Given the description of an element on the screen output the (x, y) to click on. 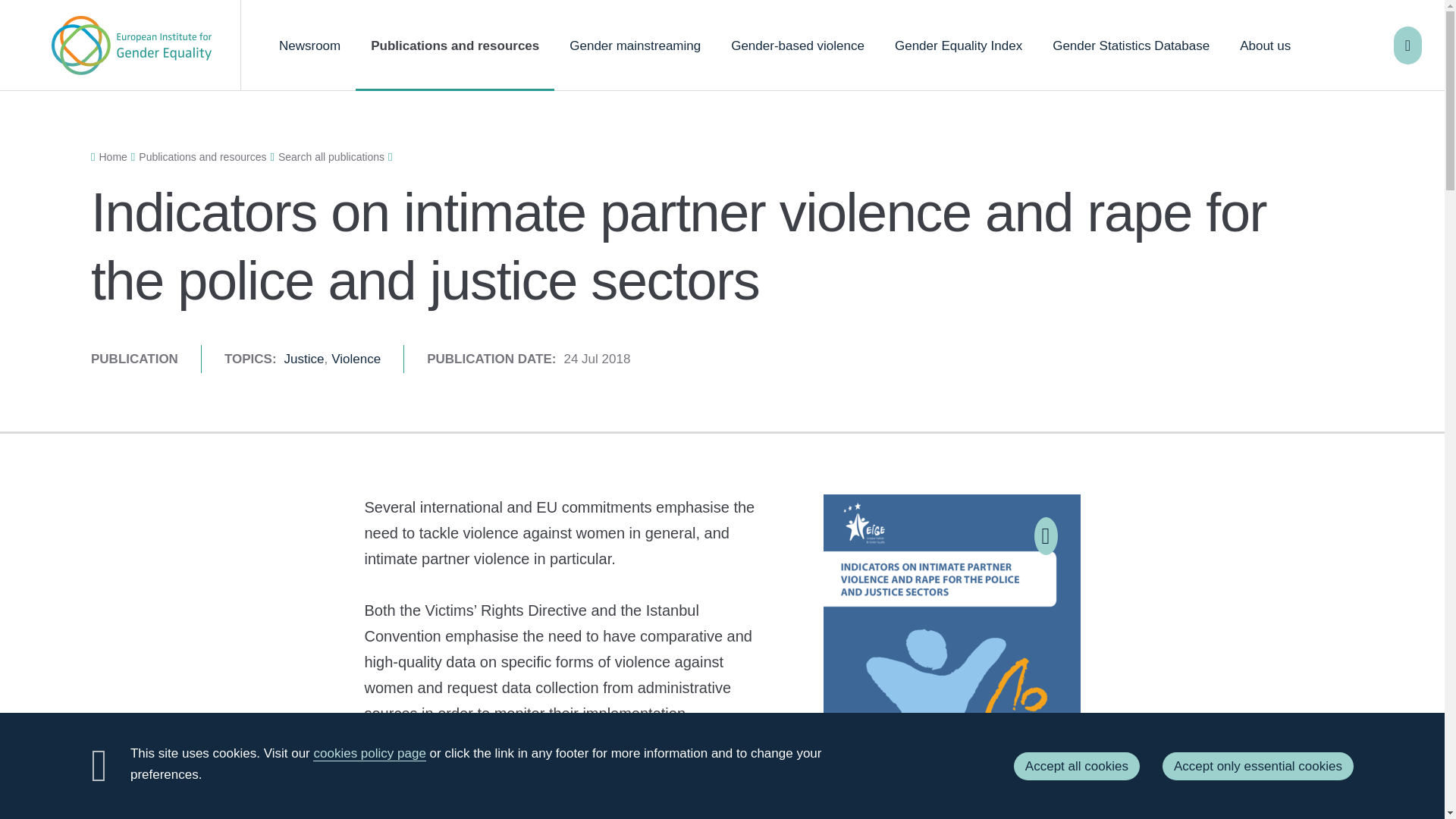
cookies policy page (369, 753)
European Institute for Gender Equality (130, 45)
Accept only essential cookies (1257, 766)
Newsroom (309, 45)
Accept all cookies (1076, 766)
Publications and resources (454, 45)
Gender mainstreaming (635, 45)
